Given the description of an element on the screen output the (x, y) to click on. 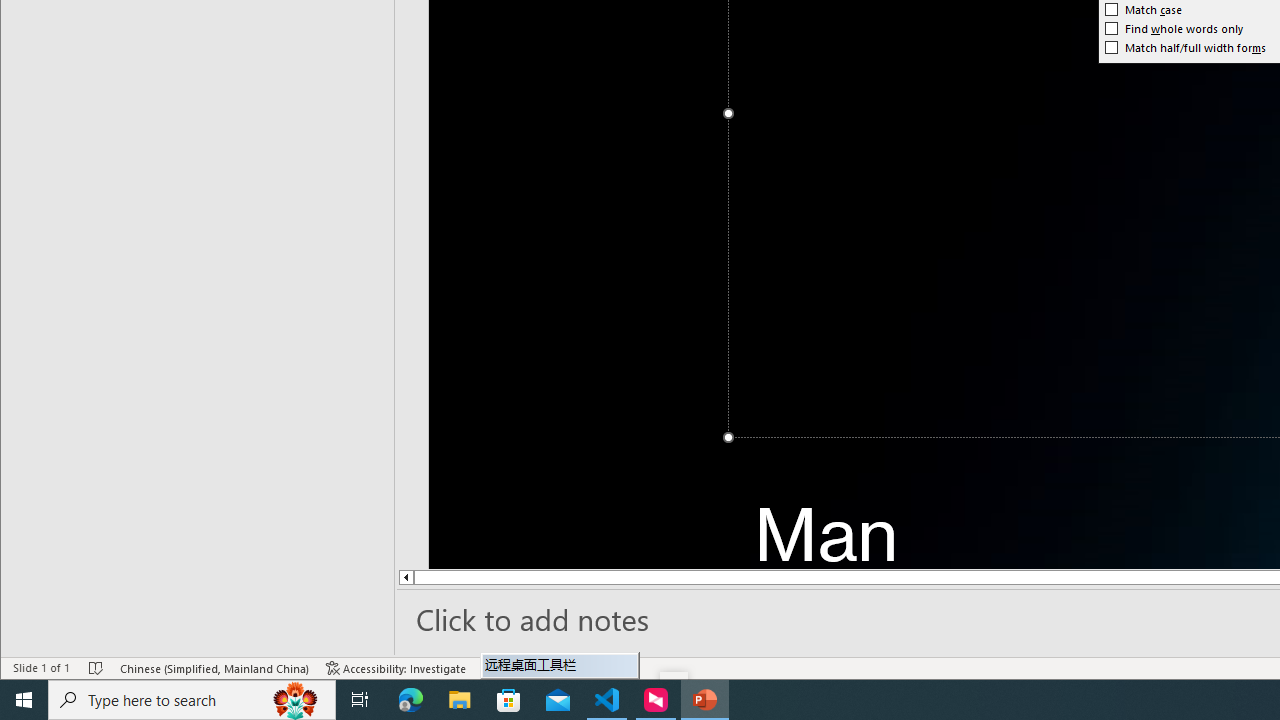
Match case (1144, 10)
Find whole words only (1174, 28)
Match half/full width forms (1186, 48)
